Given the description of an element on the screen output the (x, y) to click on. 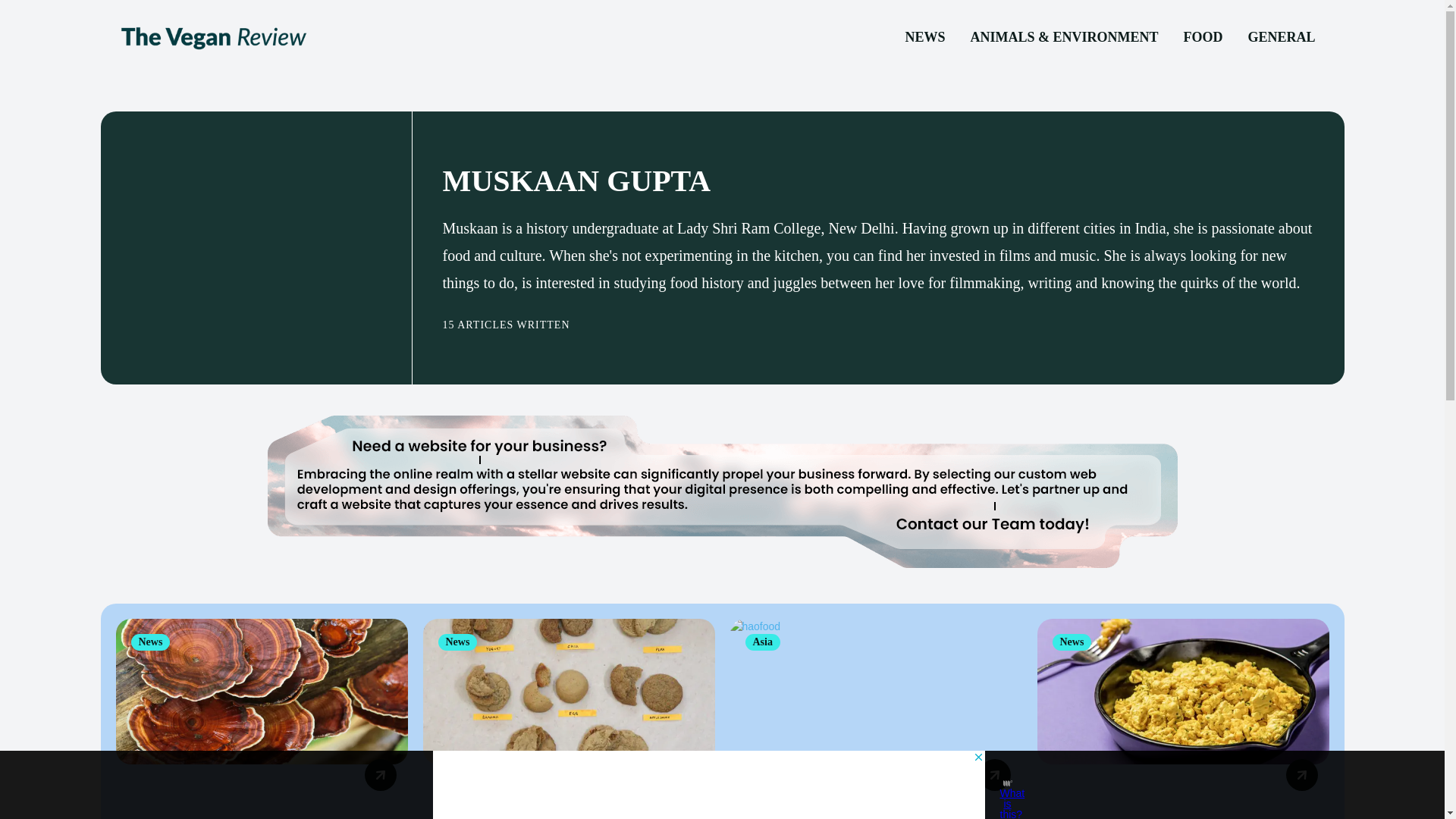
FOOD (1202, 37)
News (1072, 642)
News (457, 642)
GENERAL (1280, 37)
Testing 7 egg substitutes for the perfect vegan cookie (568, 691)
News (150, 642)
Asia (761, 642)
NEWS (924, 37)
